Given the description of an element on the screen output the (x, y) to click on. 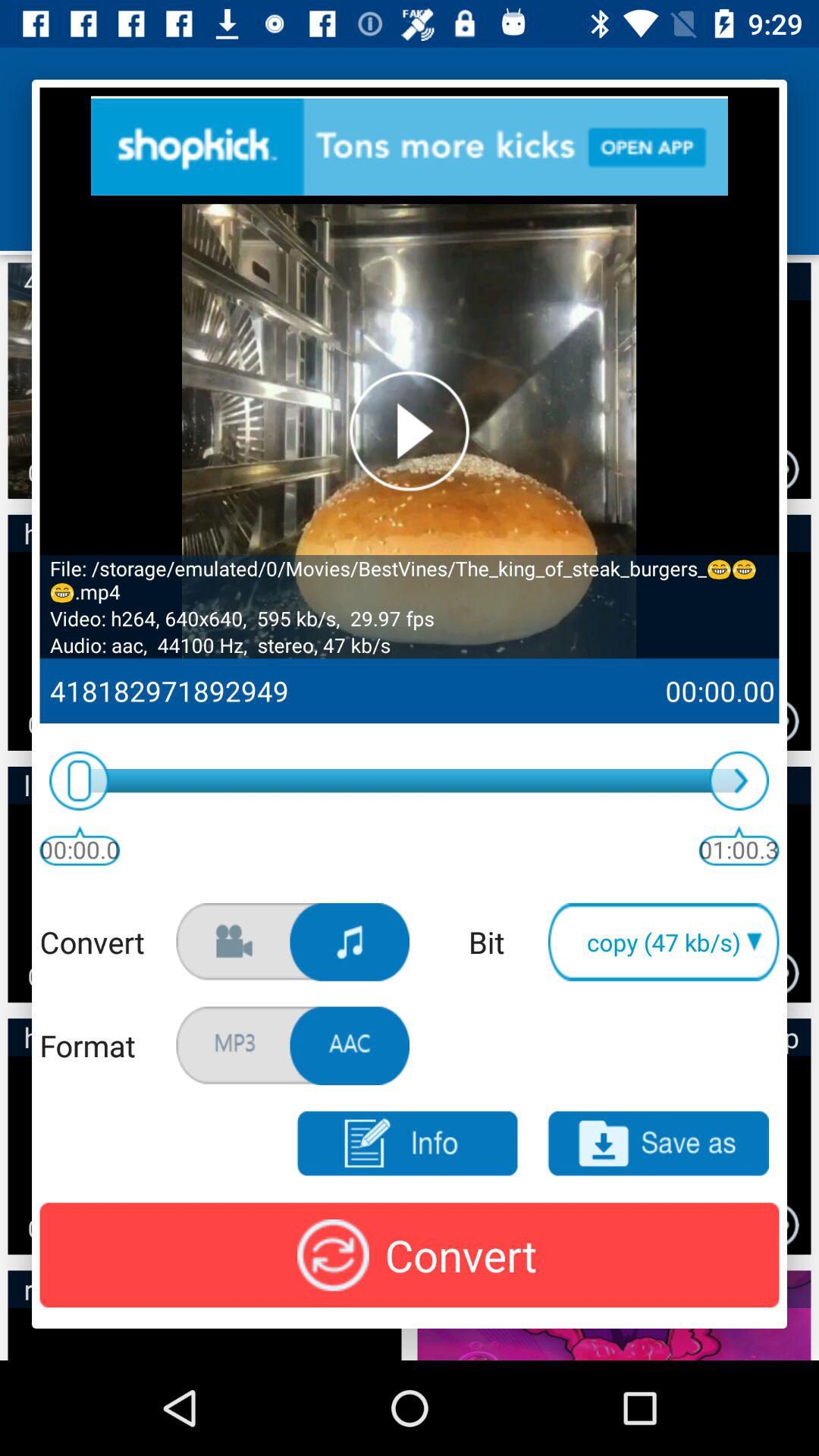
information (406, 1143)
